Given the description of an element on the screen output the (x, y) to click on. 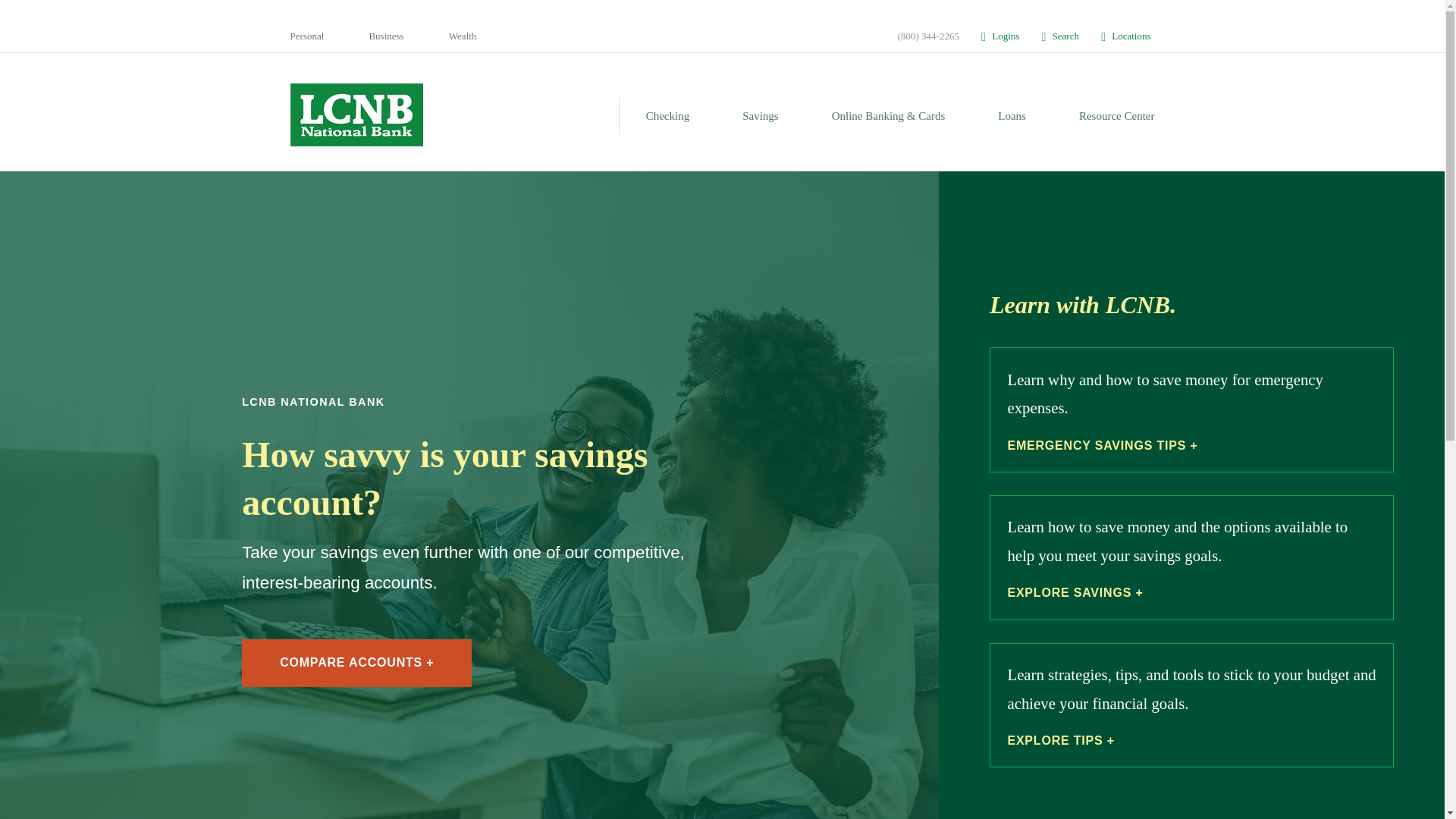
Personal (306, 35)
Wealth (462, 35)
LCNB National Bank, Lebanon, Ohio (389, 114)
Logins (994, 35)
Business (385, 35)
Search (1053, 35)
Locations (1119, 35)
